Given the description of an element on the screen output the (x, y) to click on. 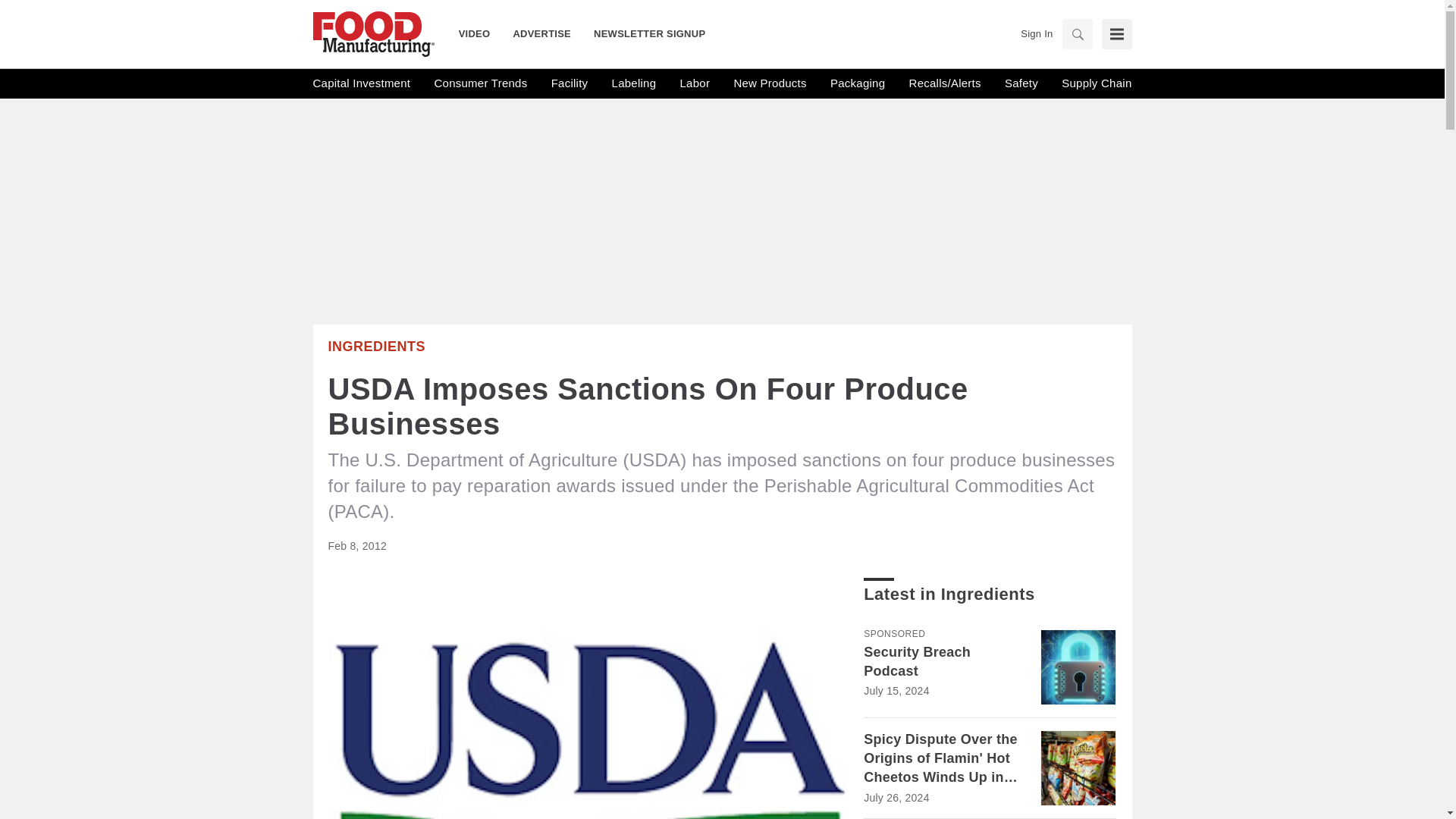
New Products (769, 83)
Supply Chain (1096, 83)
Consumer Trends (480, 83)
Ingredients (376, 346)
Facility (569, 83)
Safety (1021, 83)
Sponsored (893, 633)
Labeling (633, 83)
Sign In (1036, 33)
Labor (694, 83)
ADVERTISE (541, 33)
VIDEO (480, 33)
NEWSLETTER SIGNUP (643, 33)
Capital Investment (361, 83)
Packaging (857, 83)
